Given the description of an element on the screen output the (x, y) to click on. 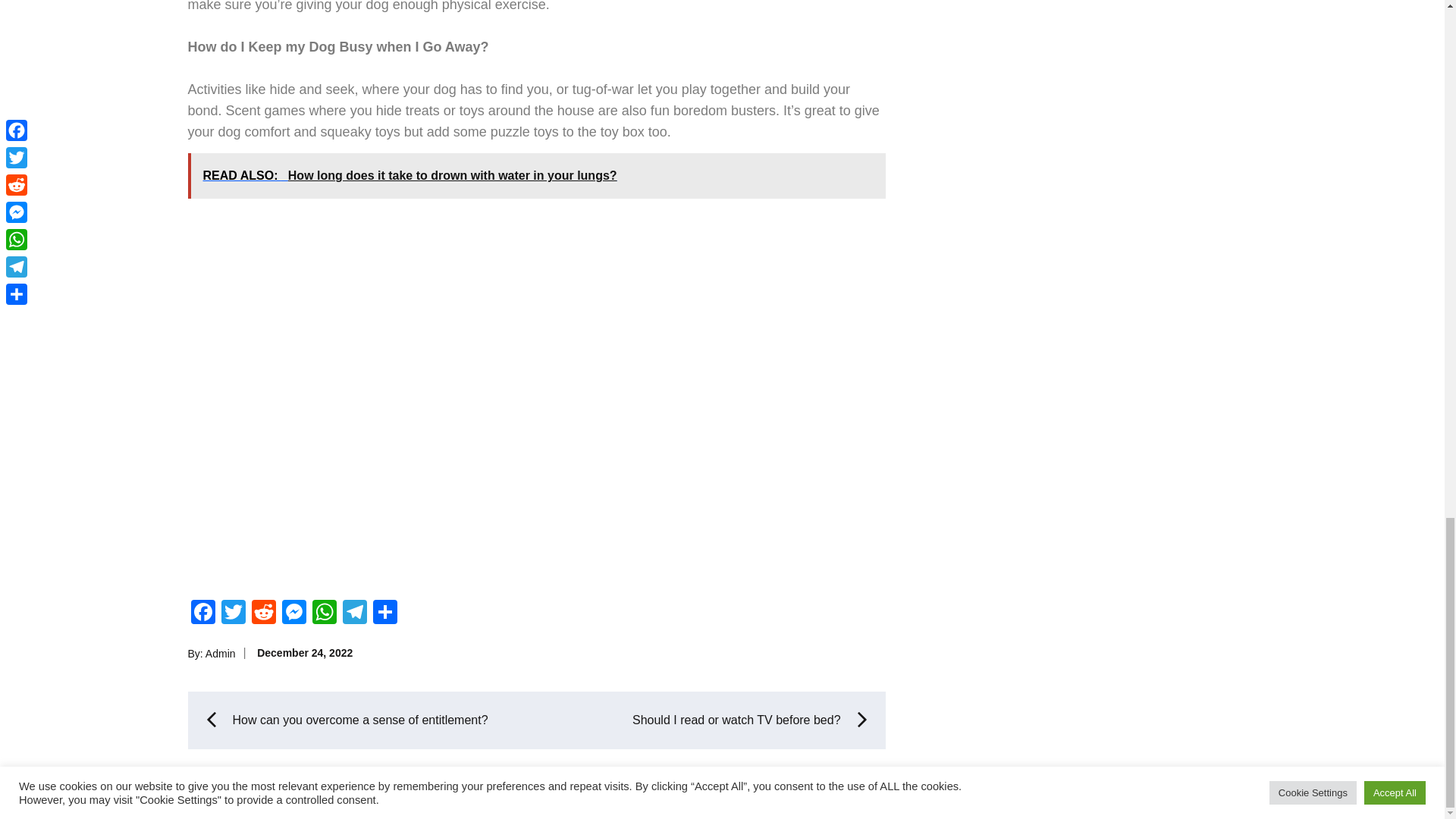
WhatsApp (323, 613)
Telegram (354, 613)
Messenger (293, 613)
Reddit (263, 613)
Admin (220, 653)
Facebook (202, 613)
December 24, 2022 (304, 653)
Telegram (354, 613)
Messenger (293, 613)
Reddit (263, 613)
Twitter (233, 613)
Twitter (233, 613)
WhatsApp (323, 613)
Share (384, 613)
